Given the description of an element on the screen output the (x, y) to click on. 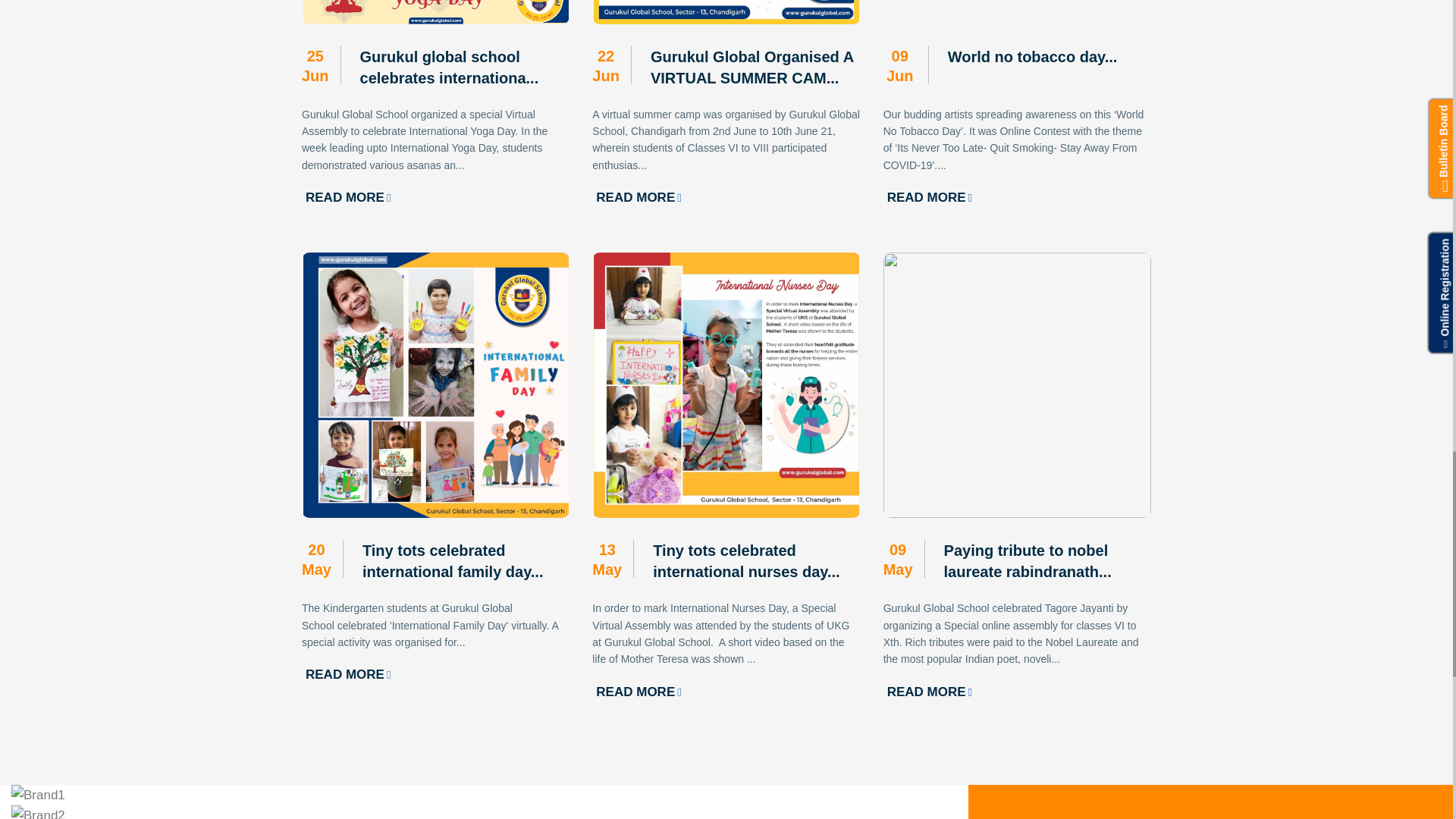
Brand2 (38, 812)
Brand1 (38, 794)
